Given the description of an element on the screen output the (x, y) to click on. 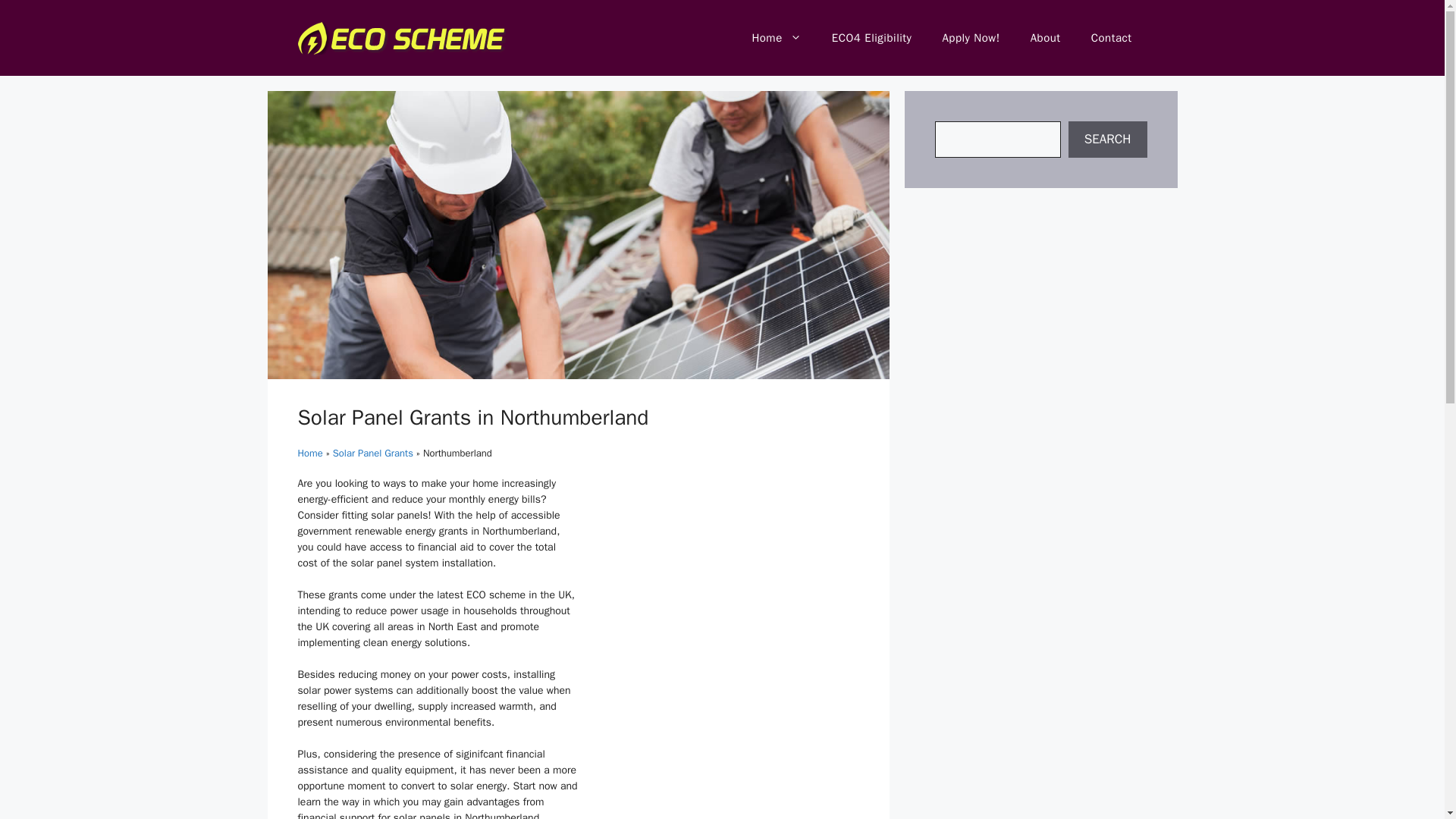
About (1044, 37)
SEARCH (1107, 139)
Home (775, 37)
Solar Panel Grants (373, 452)
Apply Now! (970, 37)
ECO4 Eligibility (871, 37)
Contact (1111, 37)
Home (309, 452)
